Given the description of an element on the screen output the (x, y) to click on. 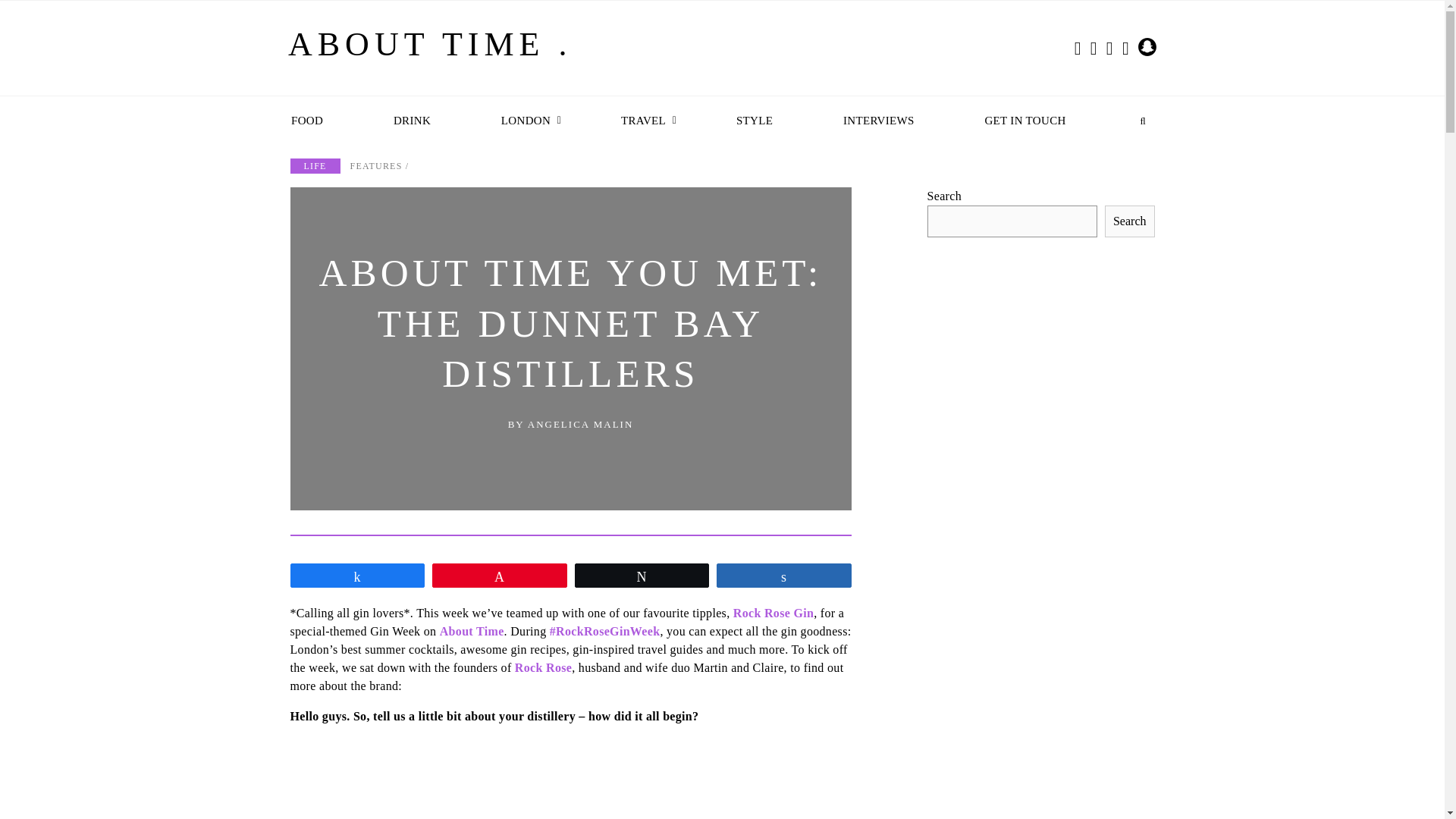
FEATURES (376, 165)
Rock Rose (543, 667)
STYLE (756, 120)
ANGELICA MALIN (580, 423)
LIFE (314, 165)
DRINK (413, 120)
About Time (471, 631)
Rock Rose Gin (773, 612)
Go to the Life category archives. (314, 165)
ABOUT TIME . (430, 51)
FOOD (309, 120)
Posts by Angelica Malin (580, 423)
TRAVEL (644, 120)
INTERVIEWS (880, 120)
Go to the Features category archives. (376, 165)
